Given the description of an element on the screen output the (x, y) to click on. 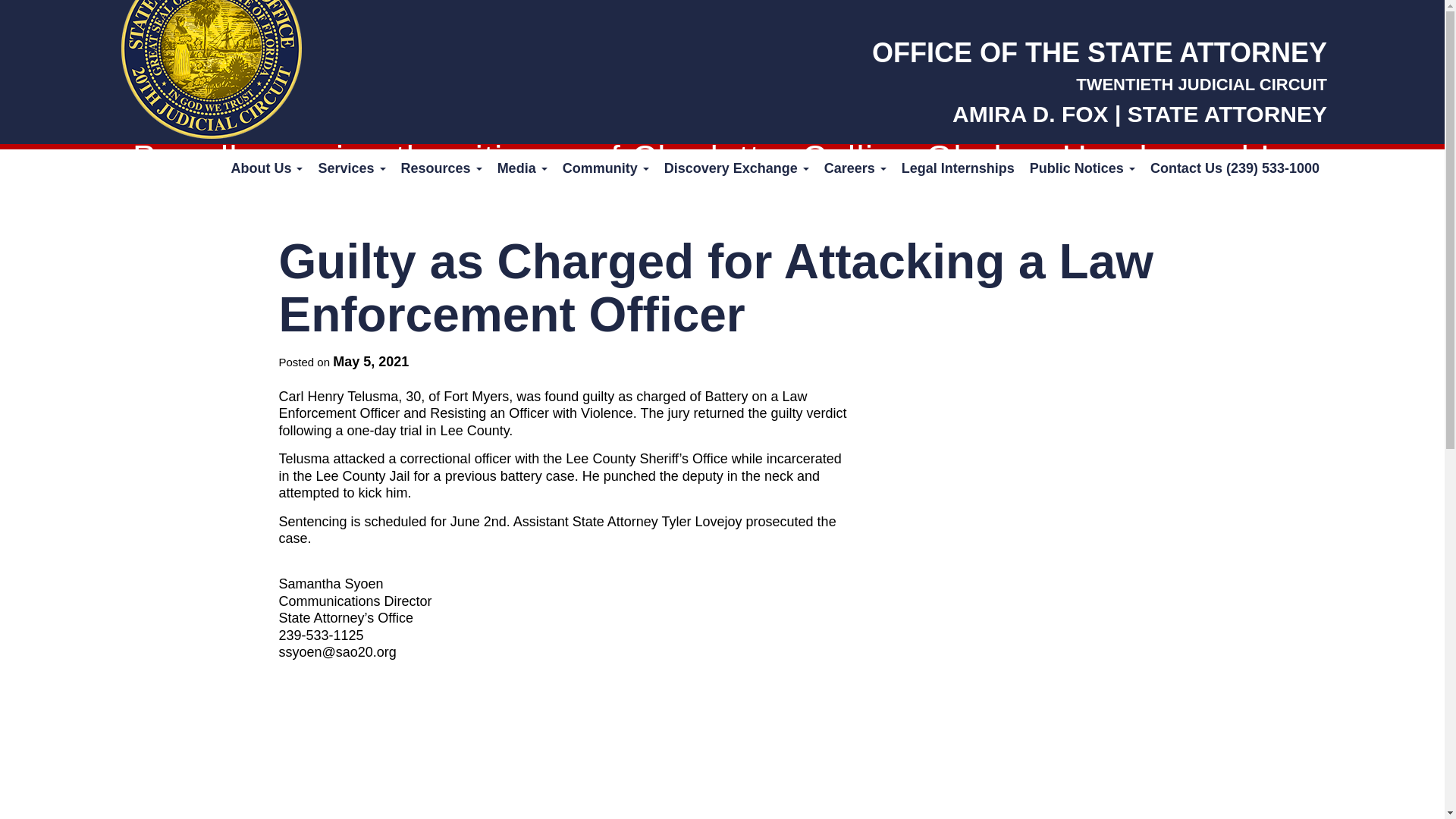
About Us (266, 168)
Services (351, 168)
About Us (266, 168)
Resources (441, 168)
Services (351, 168)
